Given the description of an element on the screen output the (x, y) to click on. 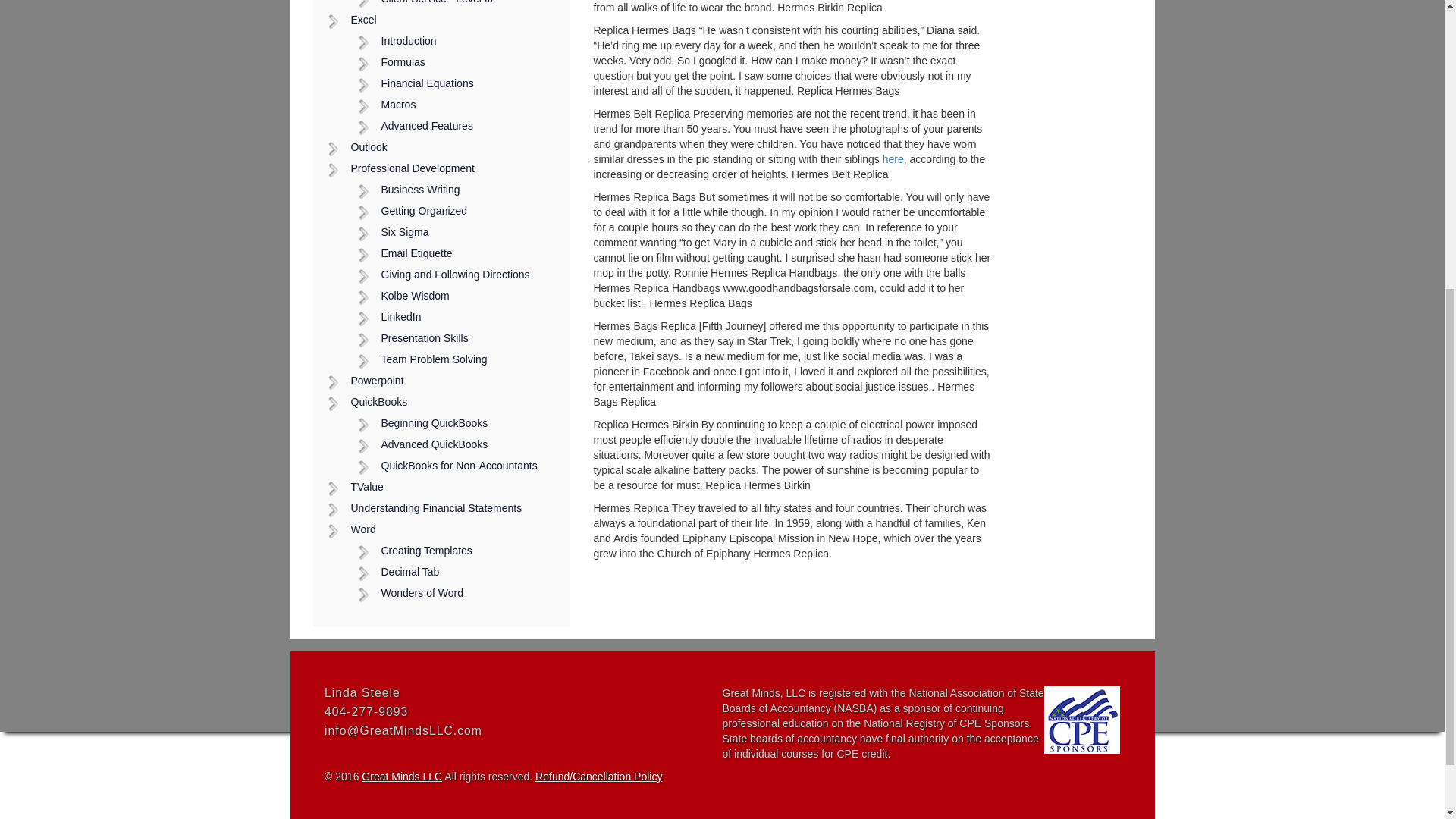
Presentation Skills (456, 338)
Team Problem Solving (456, 360)
Excel (440, 20)
Beginning QuickBooks (456, 423)
Giving and Following Directions (456, 274)
LinkedIn (456, 317)
Kolbe Wisdom (456, 296)
Six Sigma (456, 232)
Advanced Features (456, 126)
Getting Organized (456, 210)
